Given the description of an element on the screen output the (x, y) to click on. 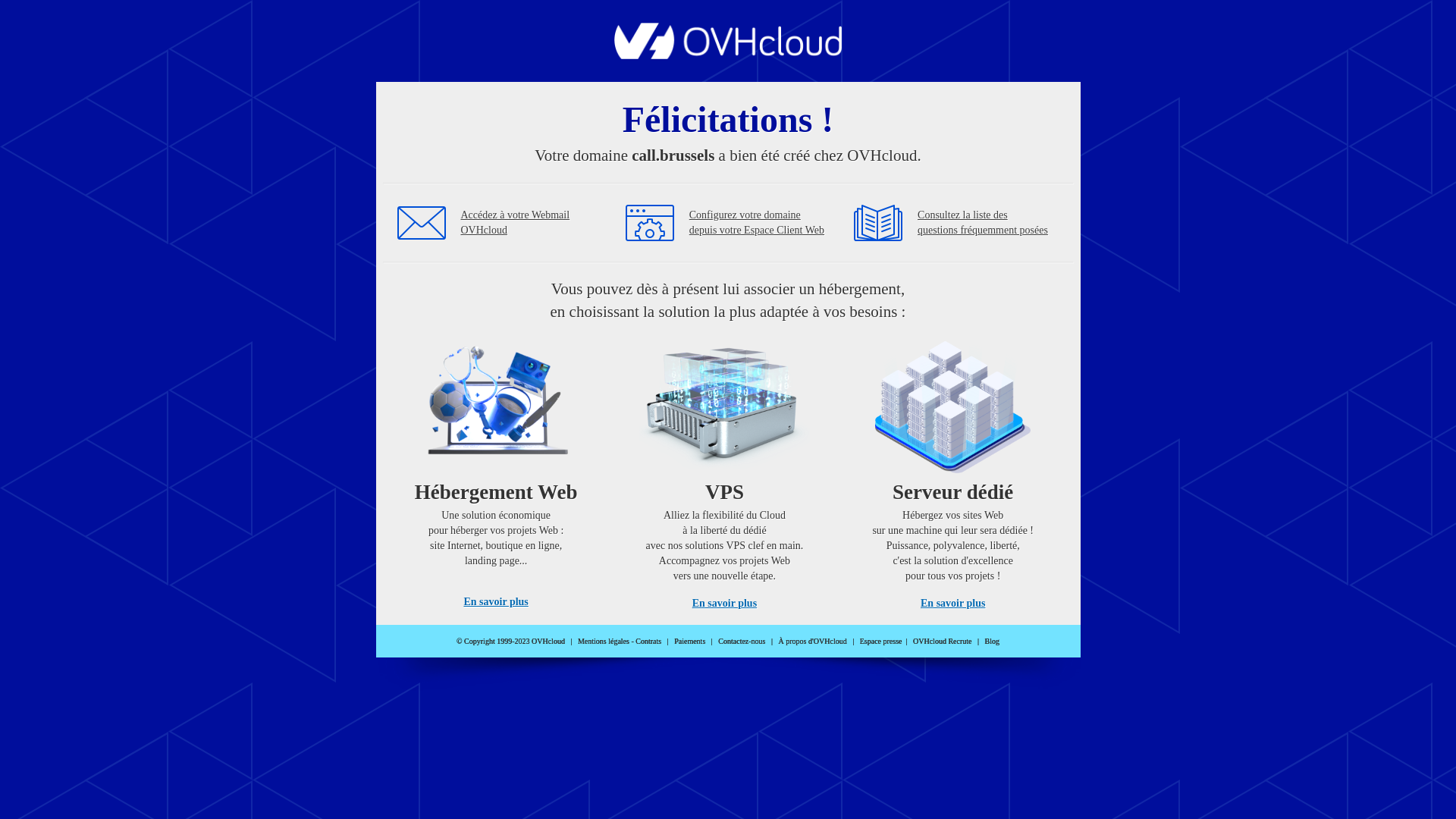
En savoir plus Element type: text (495, 601)
VPS Element type: hover (724, 469)
Paiements Element type: text (689, 641)
En savoir plus Element type: text (724, 602)
Configurez votre domaine
depuis votre Espace Client Web Element type: text (756, 222)
En savoir plus Element type: text (952, 602)
OVHcloud Recrute Element type: text (942, 641)
Blog Element type: text (992, 641)
OVHcloud Element type: hover (727, 54)
Contactez-nous Element type: text (741, 641)
Espace presse Element type: text (880, 641)
